Given the description of an element on the screen output the (x, y) to click on. 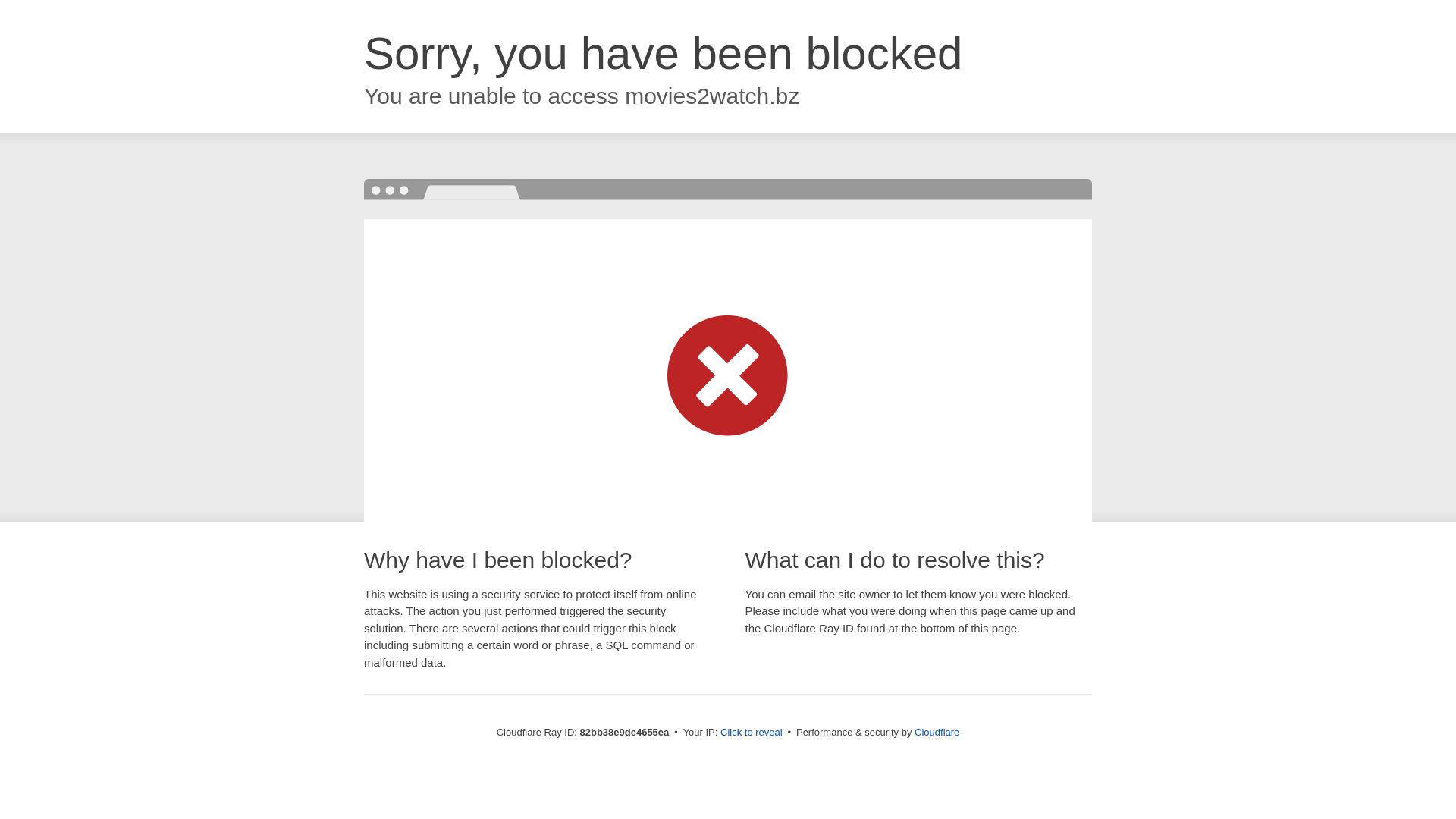
Click to reveal Element type: text (751, 732)
Cloudflare Element type: text (936, 731)
